Given the description of an element on the screen output the (x, y) to click on. 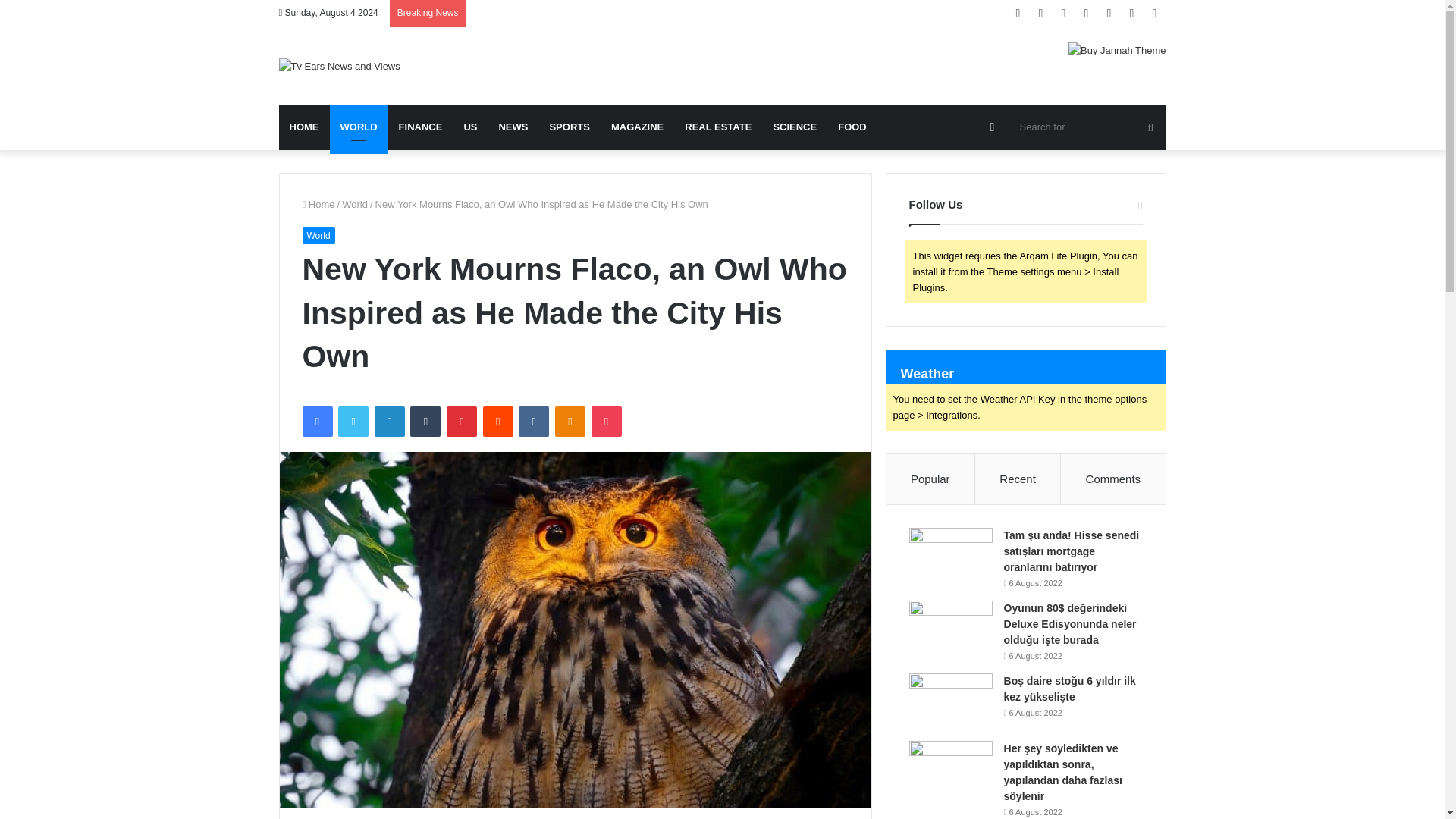
SPORTS (568, 126)
Pinterest (461, 421)
Twitter (352, 421)
VKontakte (533, 421)
Tumblr (425, 421)
World (317, 235)
HOME (304, 126)
FINANCE (420, 126)
Tv Ears News and Views (339, 65)
FOOD (852, 126)
Search for (1088, 126)
WORLD (358, 126)
LinkedIn (389, 421)
SCIENCE (794, 126)
Odnoklassniki (569, 421)
